Given the description of an element on the screen output the (x, y) to click on. 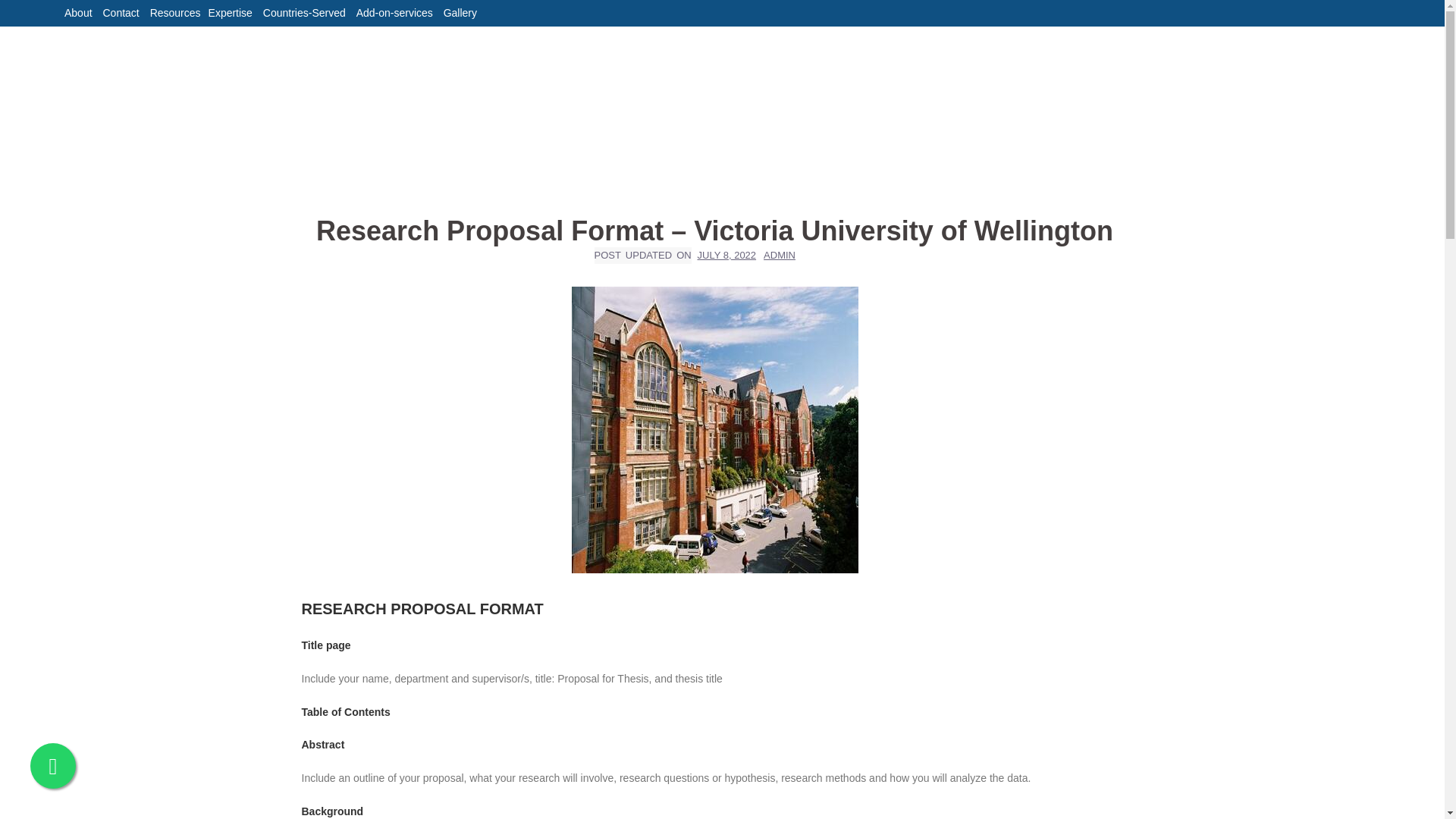
About (78, 12)
THESIS WRITING (1192, 54)
ARTICLE WRITING (917, 54)
Gallery (460, 12)
IMPLEMENTATION (797, 54)
ADMIN (778, 255)
PUBLICATION GUIDANCE (1056, 54)
Expertise (229, 12)
JULY 8, 2022 (716, 255)
HOME (576, 54)
